Given the description of an element on the screen output the (x, y) to click on. 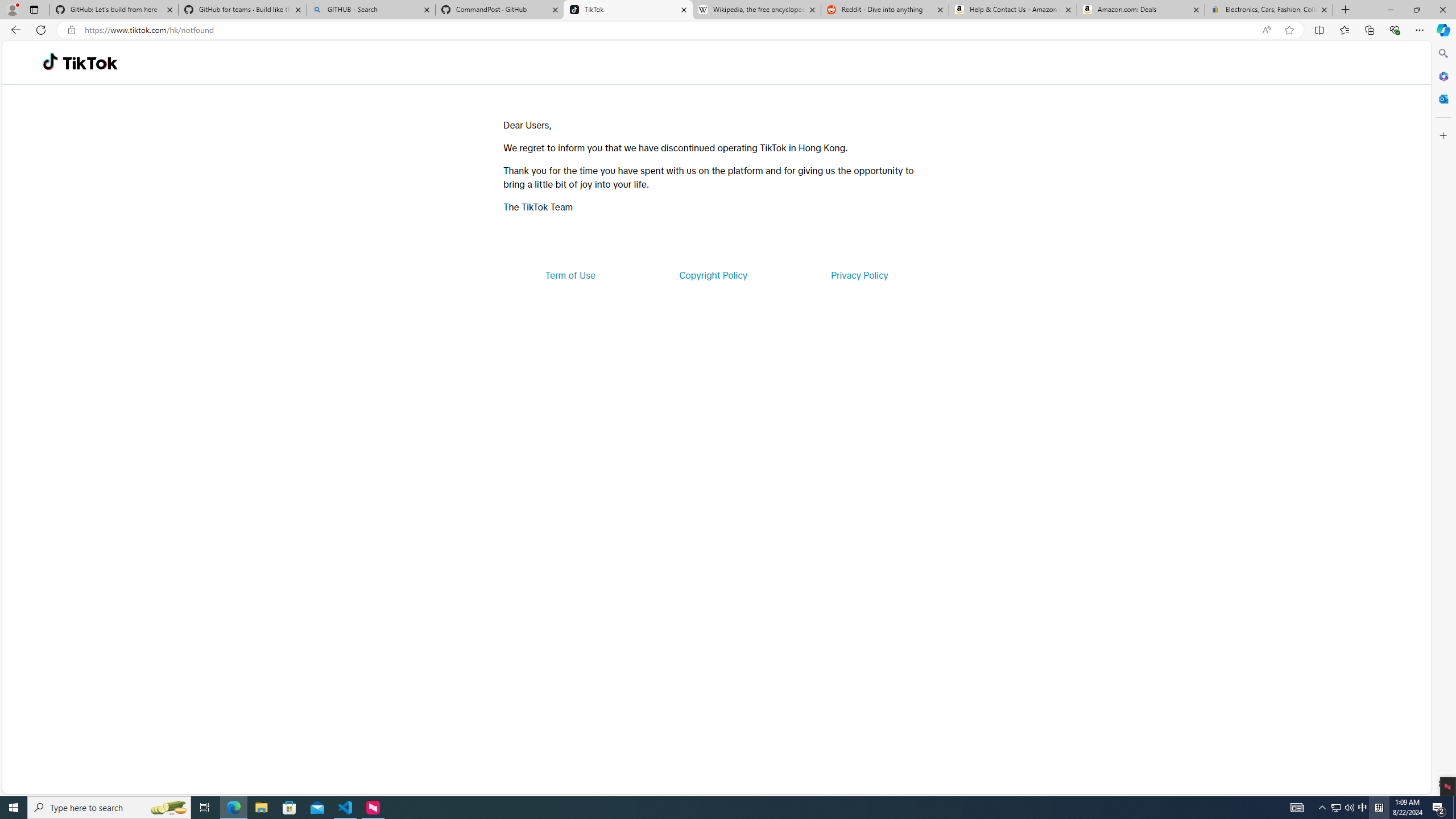
TikTok (89, 62)
TikTok (628, 9)
